Given the description of an element on the screen output the (x, y) to click on. 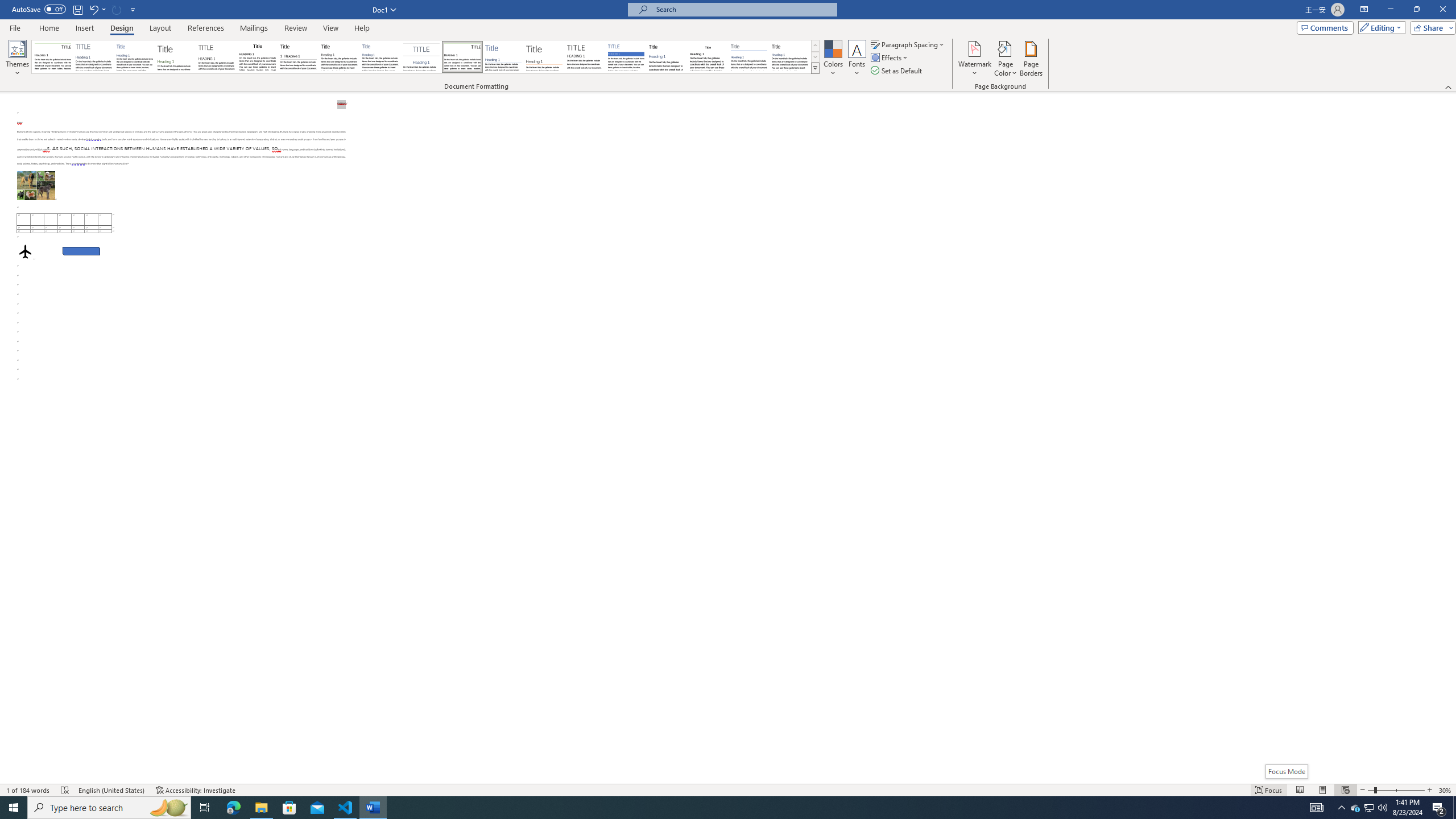
Paragraph Spacing (908, 44)
Word 2003 (707, 56)
Basic (Simple) (135, 56)
Black & White (Classic) (257, 56)
Basic (Stylish) (175, 56)
Lines (Distinctive) (462, 56)
